Given the description of an element on the screen output the (x, y) to click on. 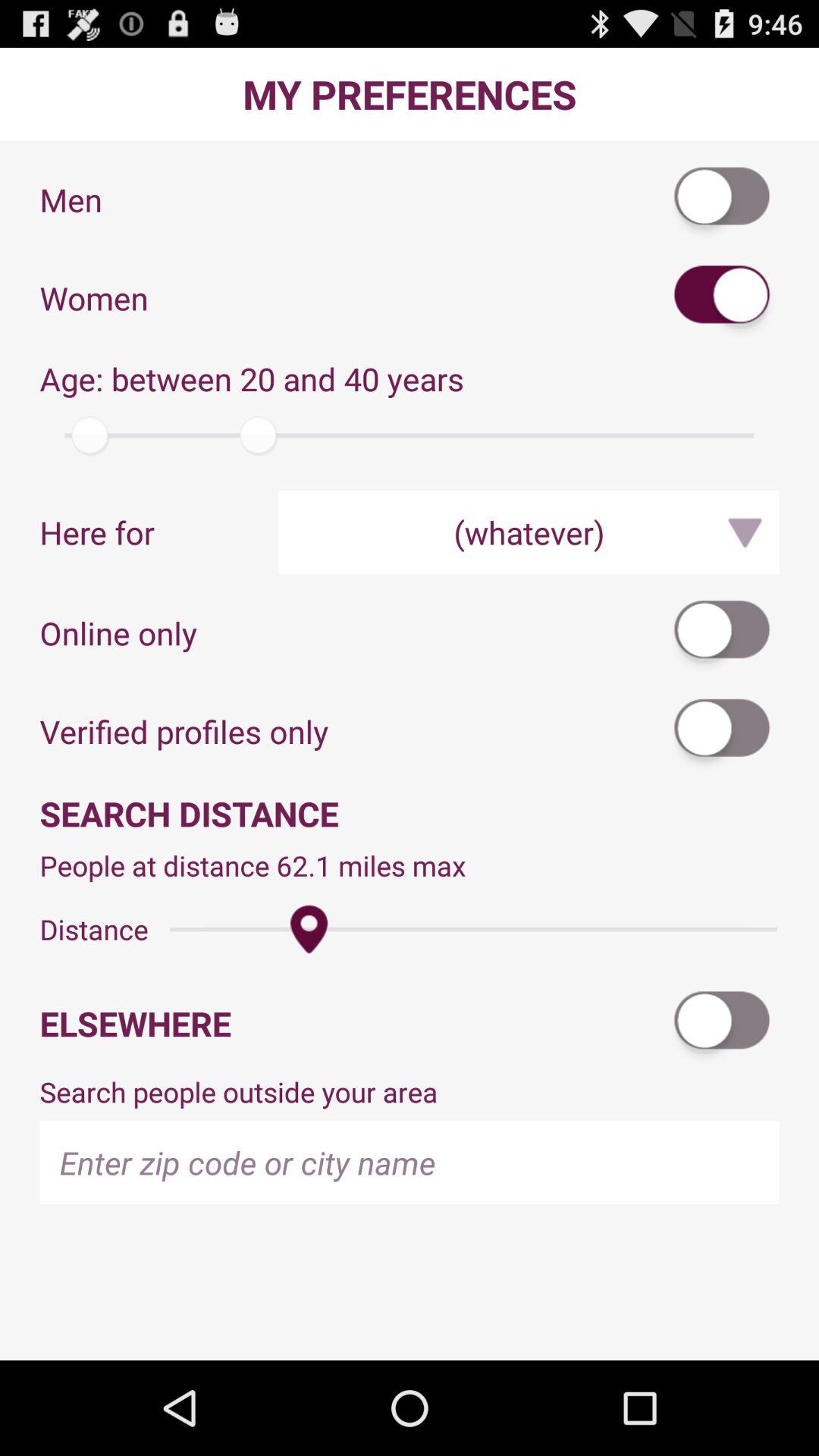
click icon below online only icon (722, 731)
